Given the description of an element on the screen output the (x, y) to click on. 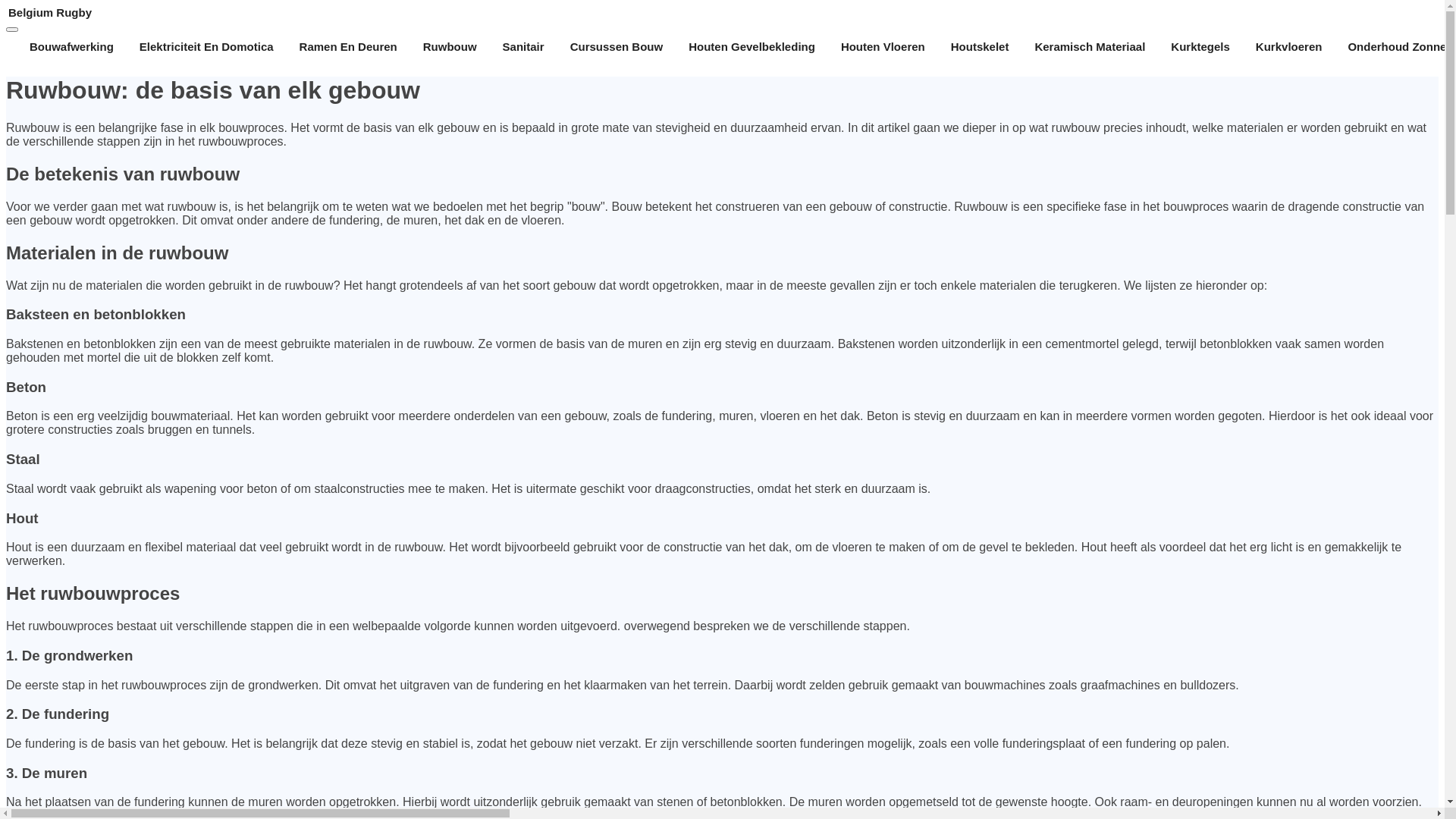
Houten Gevelbekleding Element type: text (751, 46)
Ruwbouw Element type: text (449, 46)
Belgium Rugby Element type: text (722, 12)
Cursussen Bouw Element type: text (616, 46)
Keramisch Materiaal Element type: text (1089, 46)
Houten Vloeren Element type: text (882, 46)
Elektriciteit En Domotica Element type: text (206, 46)
Bouwafwerking Element type: text (71, 46)
Sanitair Element type: text (523, 46)
Kurktegels Element type: text (1200, 46)
Ramen En Deuren Element type: text (348, 46)
Kurkvloeren Element type: text (1288, 46)
Houtskelet Element type: text (979, 46)
